Given the description of an element on the screen output the (x, y) to click on. 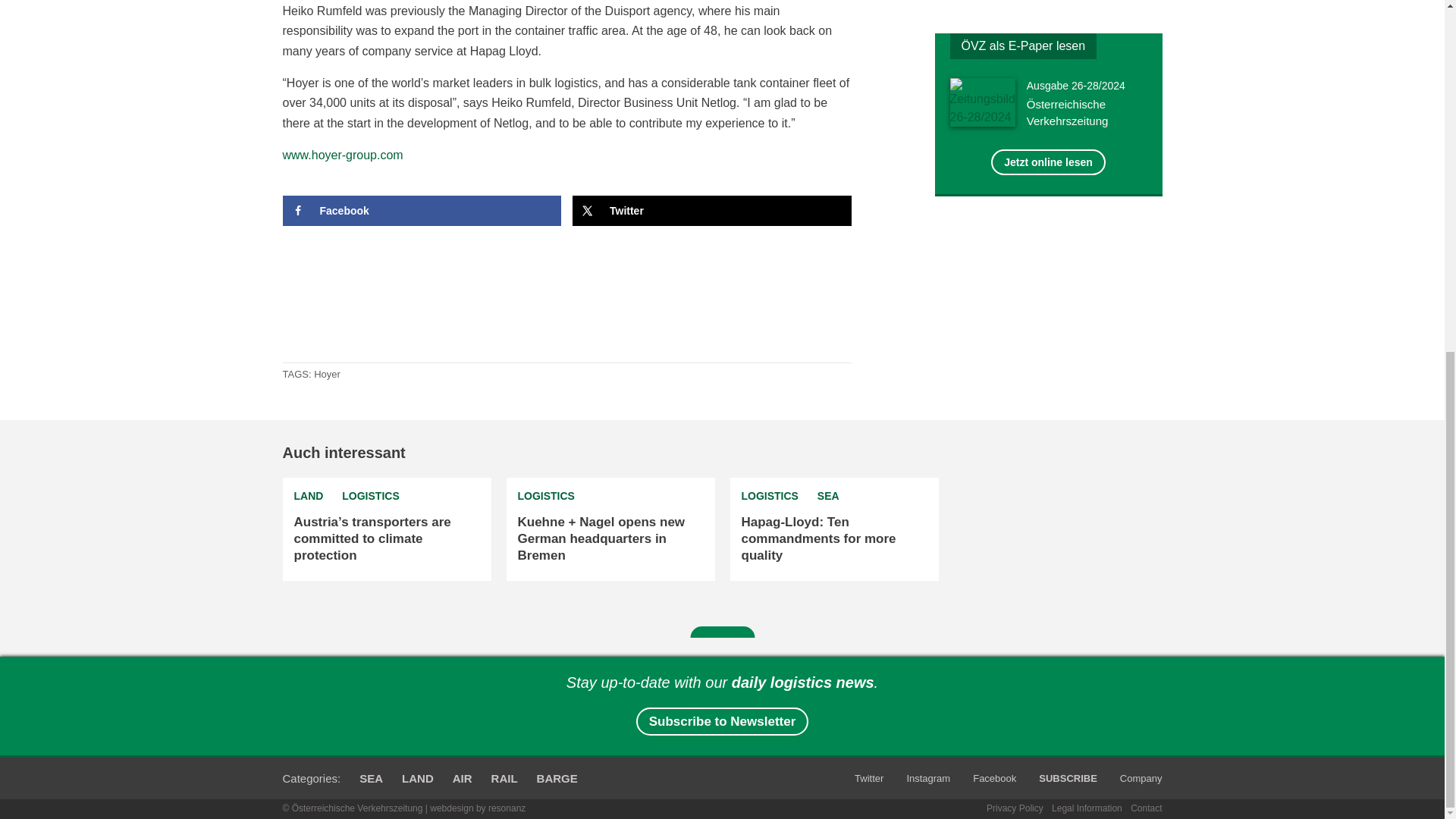
LOGISTICS (769, 495)
Jetzt online lesen (1048, 162)
Webdesign und Online Marketing Agentur Wien (477, 808)
Twitter (711, 210)
SEA (828, 495)
LOGISTICS (370, 495)
Share on Facebook (421, 210)
www.hoyer-group.com (342, 154)
Jetzt online lesen (987, 103)
Hapag-Lloyd: Ten commandments for more quality (818, 538)
Facebook (421, 210)
LAND (308, 495)
Jetzt online lesen (1048, 162)
Hoyer (327, 374)
Share on X (711, 210)
